Given the description of an element on the screen output the (x, y) to click on. 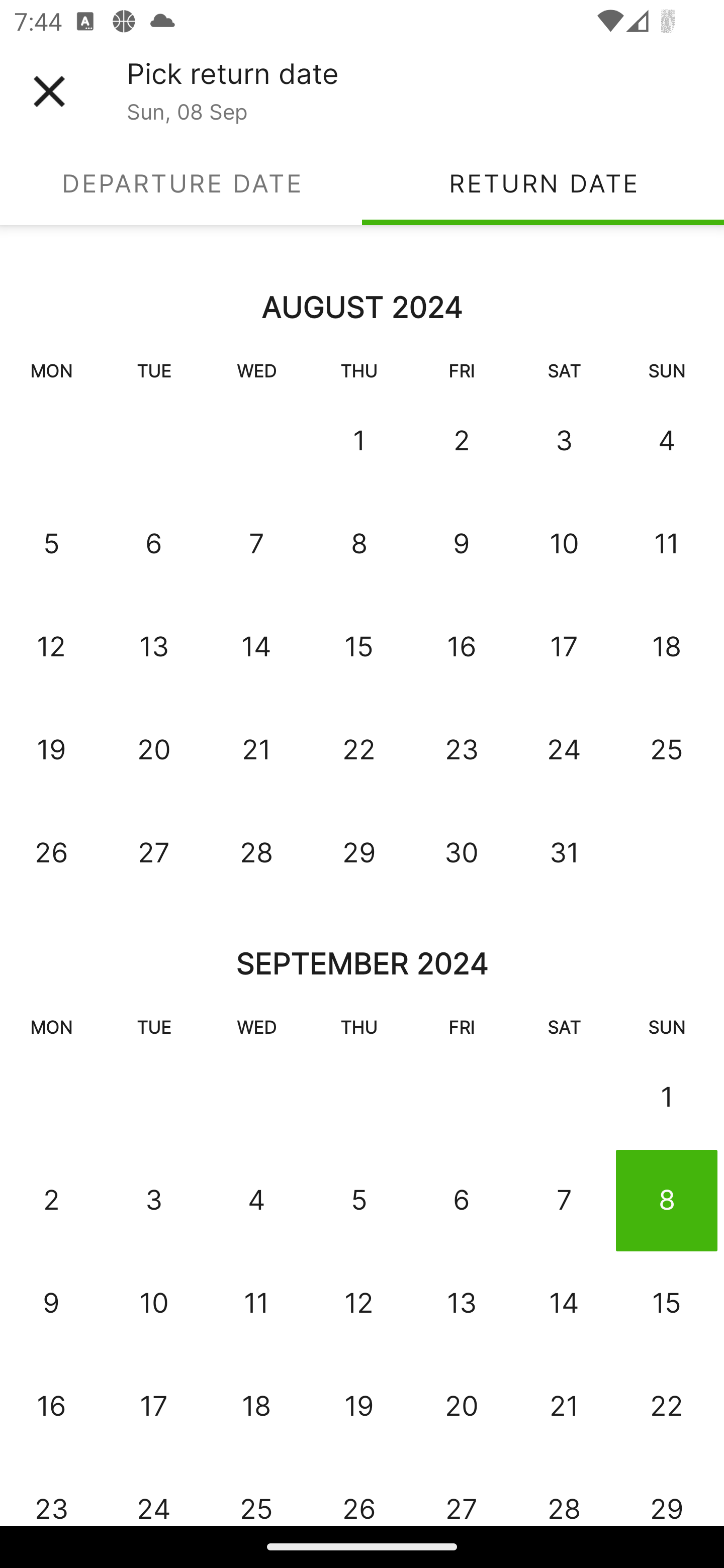
Departure Date DEPARTURE DATE (181, 183)
